Given the description of an element on the screen output the (x, y) to click on. 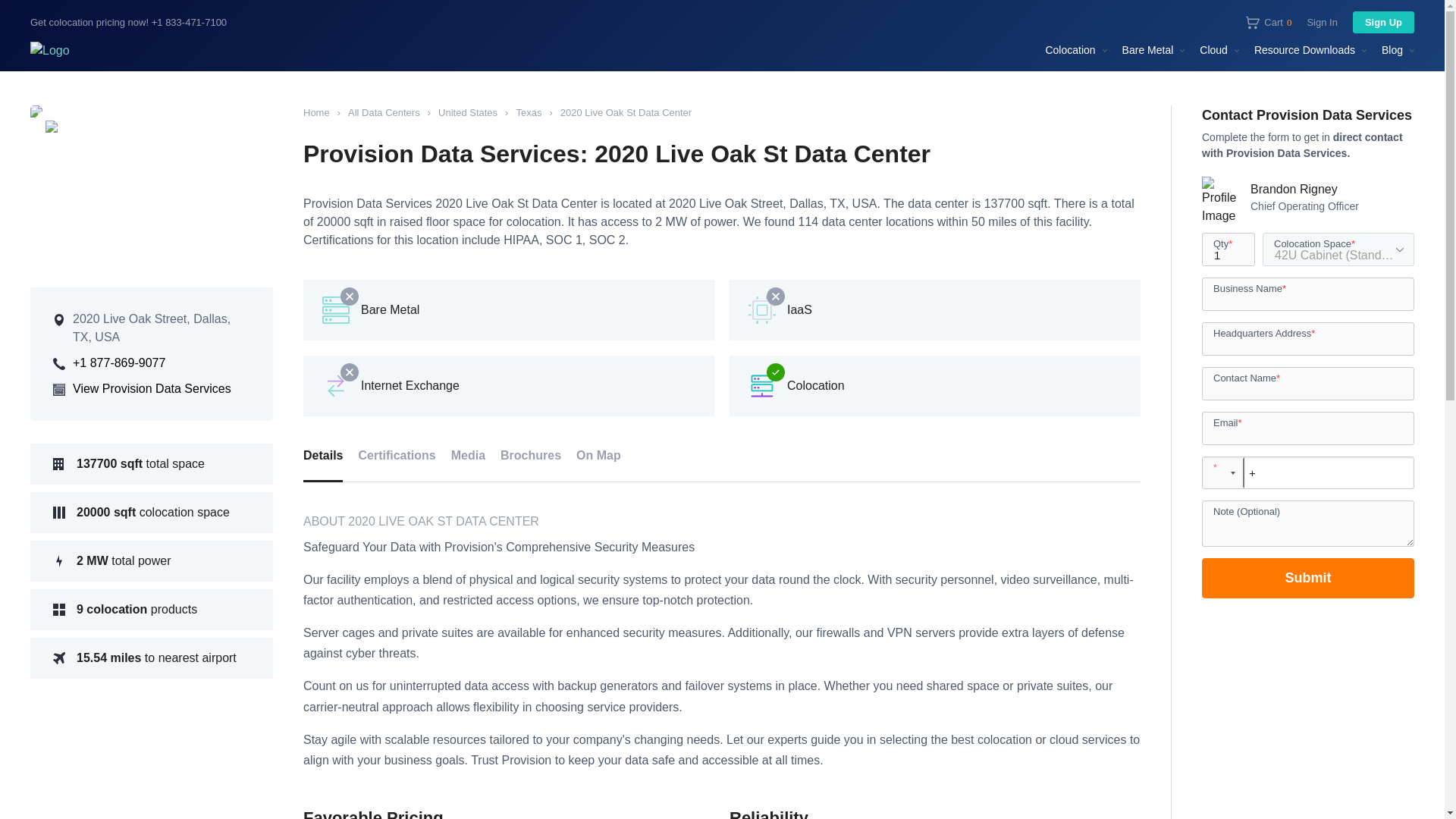
1 (1228, 249)
Sign In (1321, 22)
Sign Up (1268, 21)
